Given the description of an element on the screen output the (x, y) to click on. 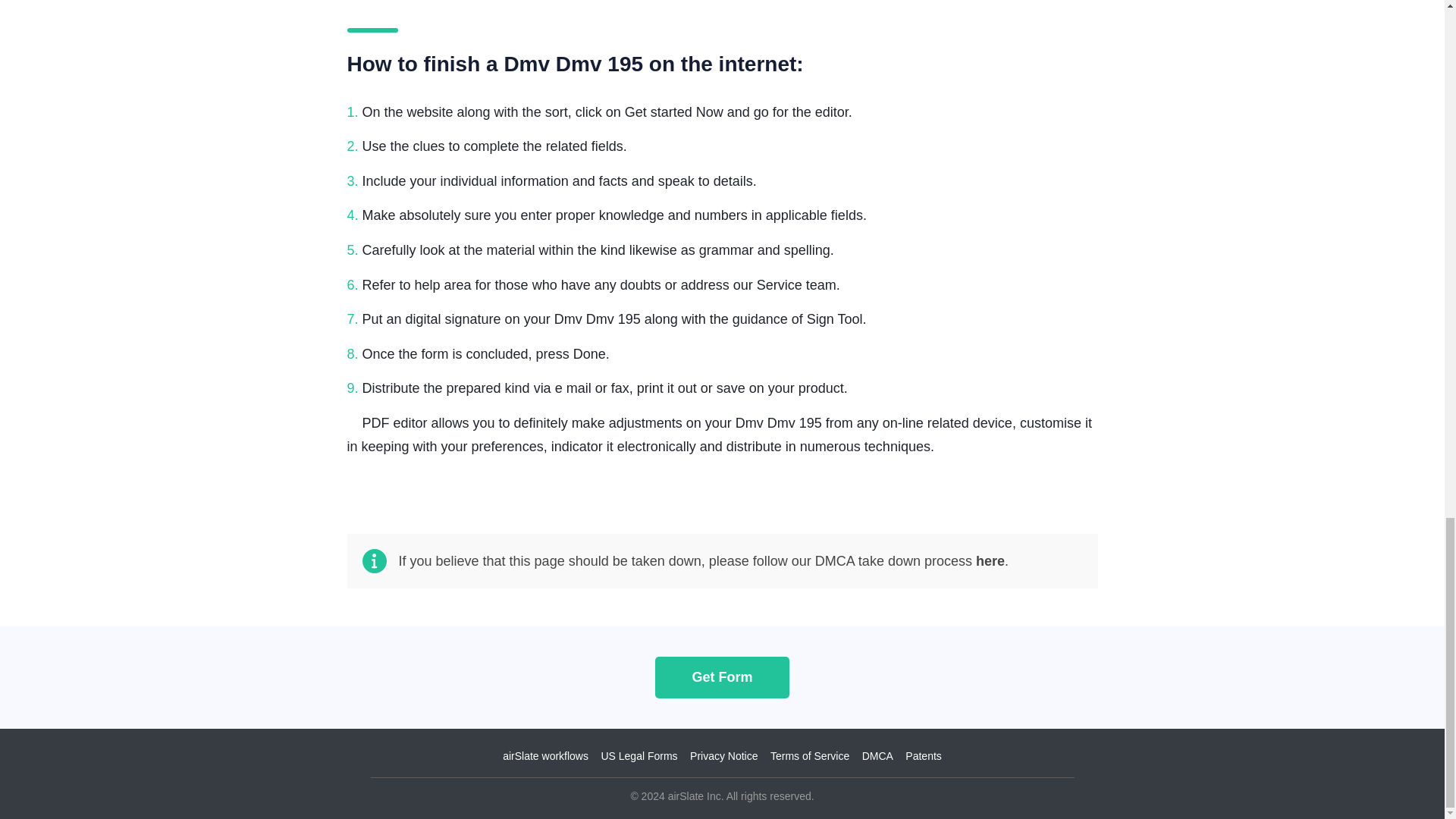
US Legal Forms (638, 756)
Get Form (722, 676)
airSlate workflows (545, 756)
Terms of Service (809, 756)
here (989, 560)
Patents (922, 756)
Privacy Notice (723, 756)
DMCA (877, 756)
